Given the description of an element on the screen output the (x, y) to click on. 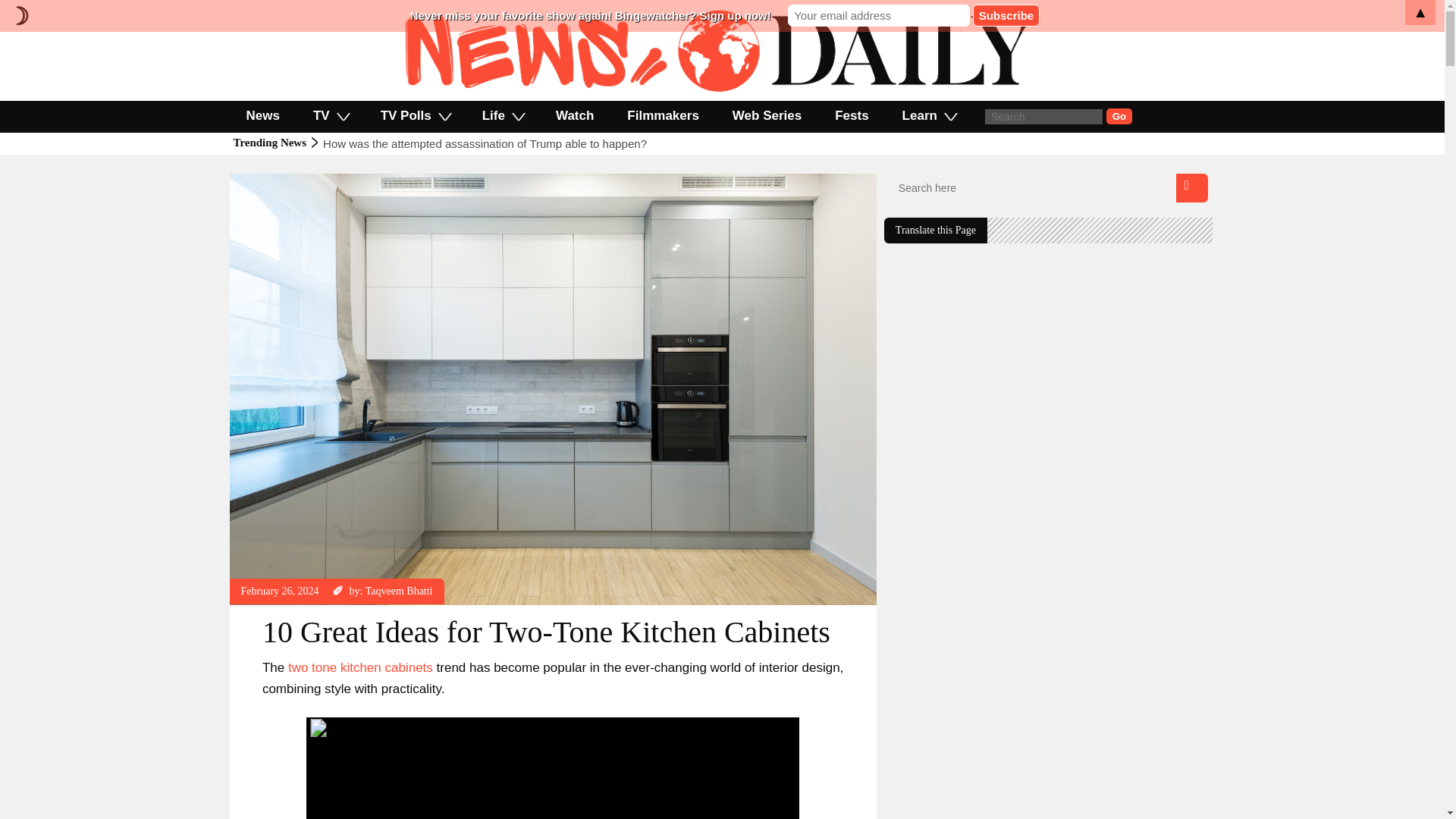
Life (501, 115)
Lifestyle (259, 180)
Watch (574, 115)
Filmmakers (663, 115)
Go (1119, 116)
News (261, 115)
Learn (928, 115)
TV (330, 115)
February 26, 2024 (279, 591)
Fests (851, 115)
Subscribe (1006, 15)
Go (1119, 116)
RIP Shannen Doherty: here are her most iconic roles (456, 143)
Go (1119, 116)
TV Polls (414, 115)
